Given the description of an element on the screen output the (x, y) to click on. 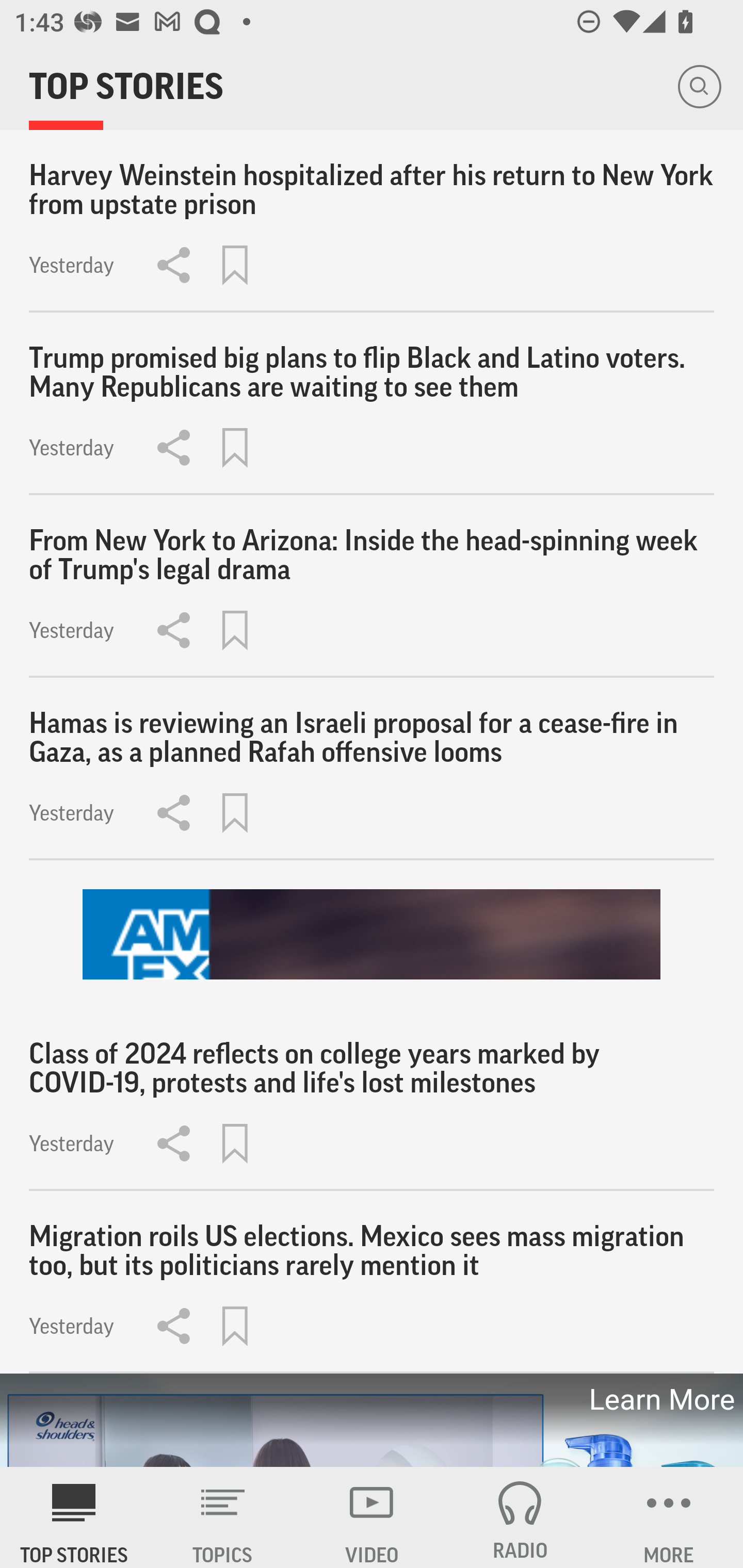
AP News TOP STORIES (74, 1517)
TOPICS (222, 1517)
VIDEO (371, 1517)
RADIO (519, 1517)
MORE (668, 1517)
